Given the description of an element on the screen output the (x, y) to click on. 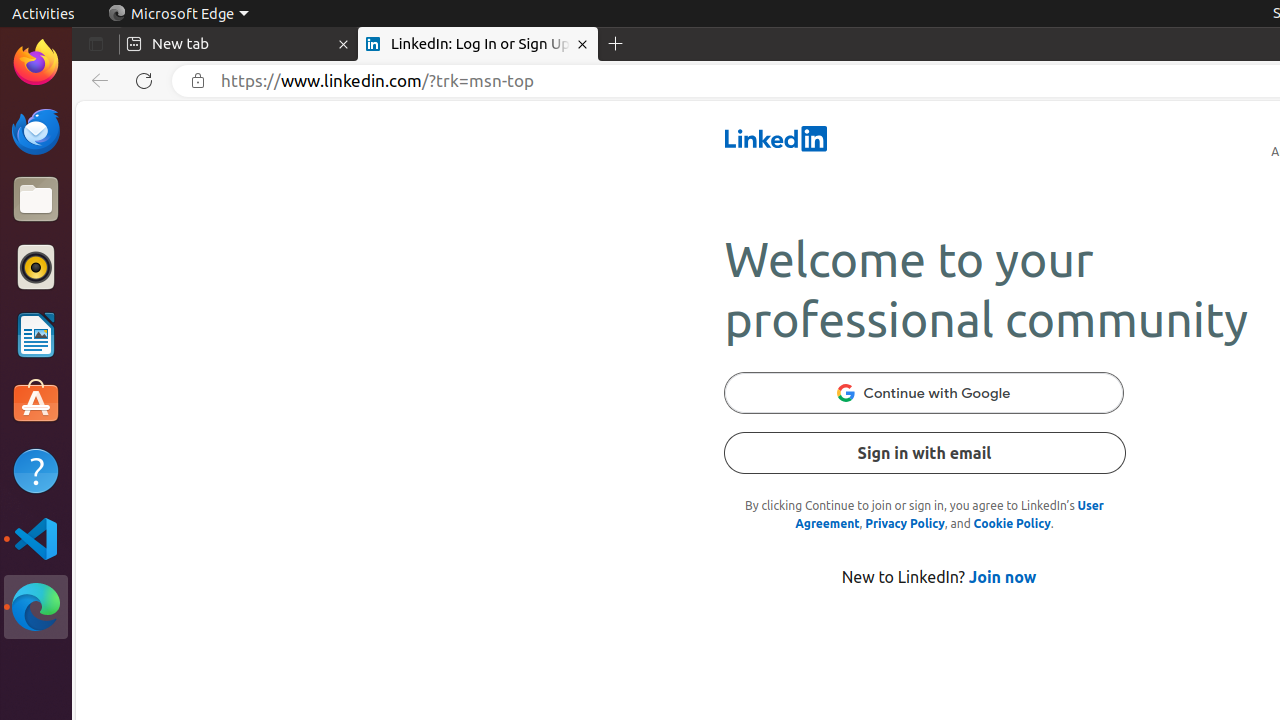
User Agreement Element type: link (949, 514)
Close tab Element type: push-button (343, 44)
Microsoft Edge Element type: push-button (36, 607)
